Given the description of an element on the screen output the (x, y) to click on. 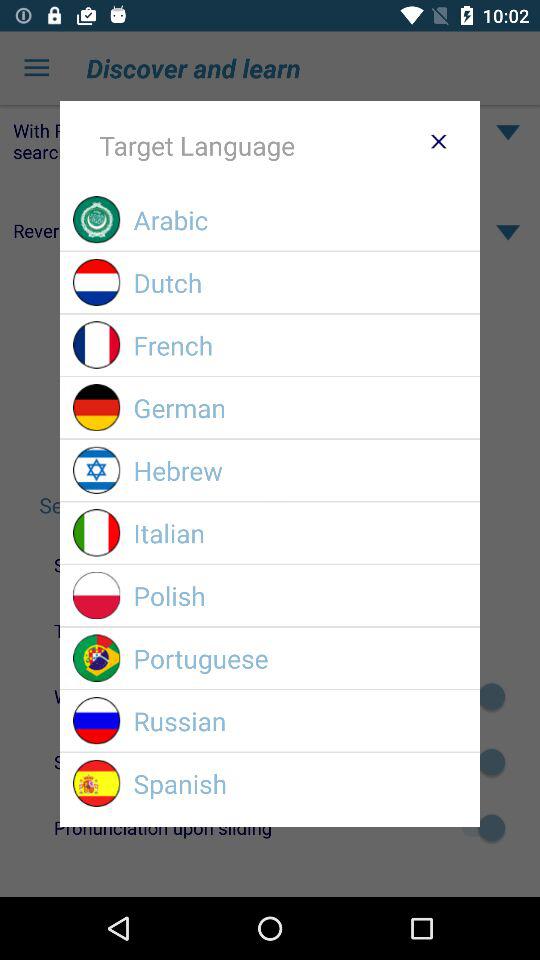
turn on the dutch (300, 282)
